Given the description of an element on the screen output the (x, y) to click on. 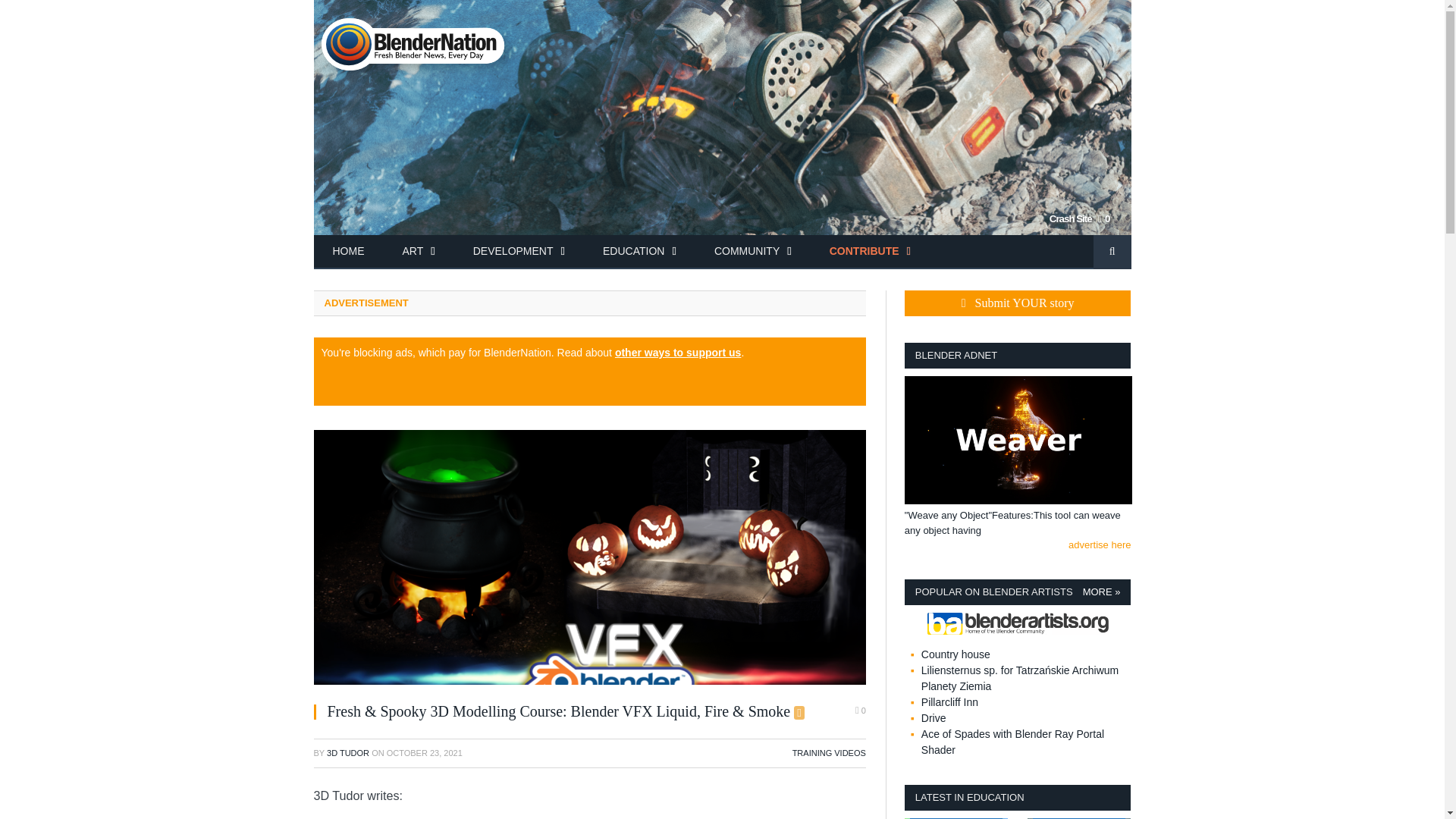
3D TUDOR (347, 752)
Crash Site     0 (722, 226)
COMMUNITY (752, 252)
TRAINING VIDEOS (829, 752)
EDUCATION (639, 252)
ART (419, 252)
2021-10-23 (425, 752)
Posts by 3D Tudor (347, 752)
other ways to support us (677, 352)
CONTRIBUTE (870, 252)
